Given the description of an element on the screen output the (x, y) to click on. 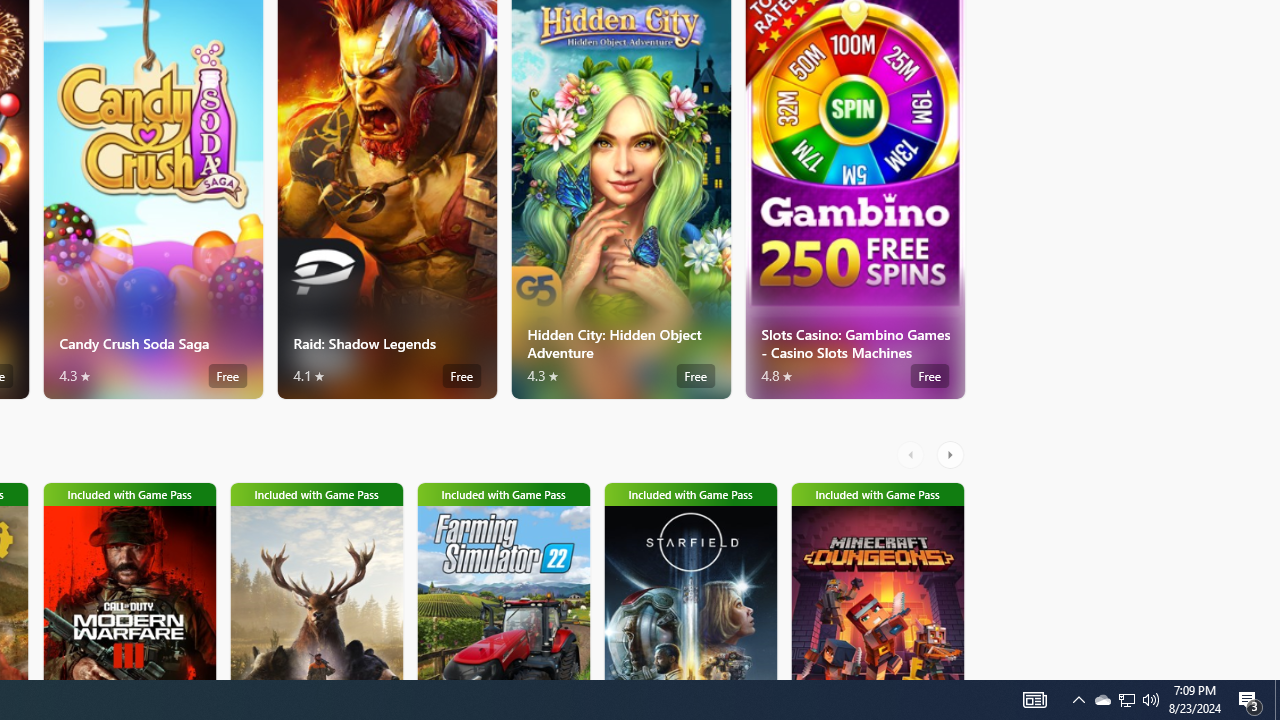
AutomationID: LeftScrollButton (913, 454)
AutomationID: RightScrollButton (952, 454)
